Given the description of an element on the screen output the (x, y) to click on. 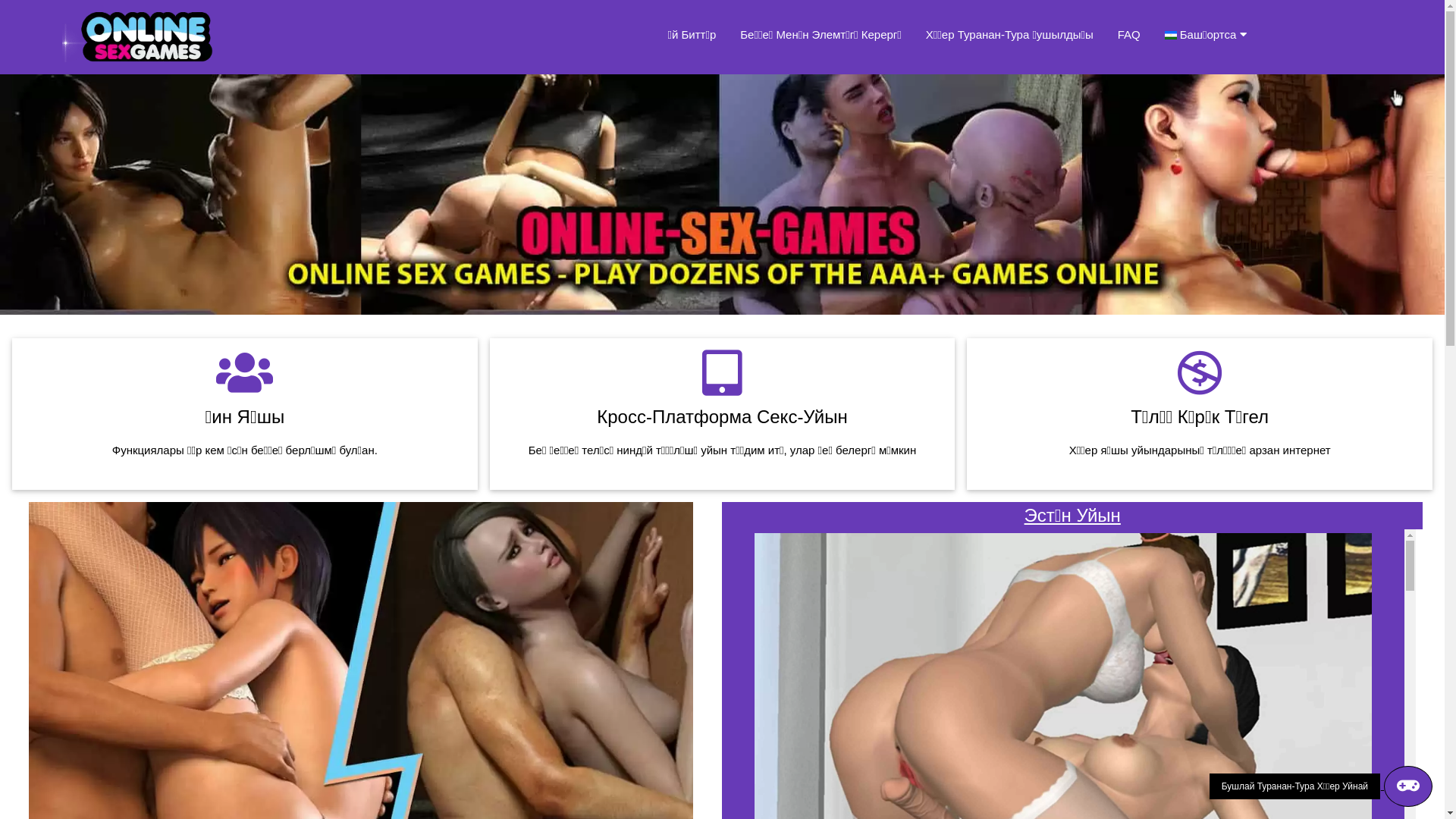
FAQ Element type: text (1128, 35)
